Given the description of an element on the screen output the (x, y) to click on. 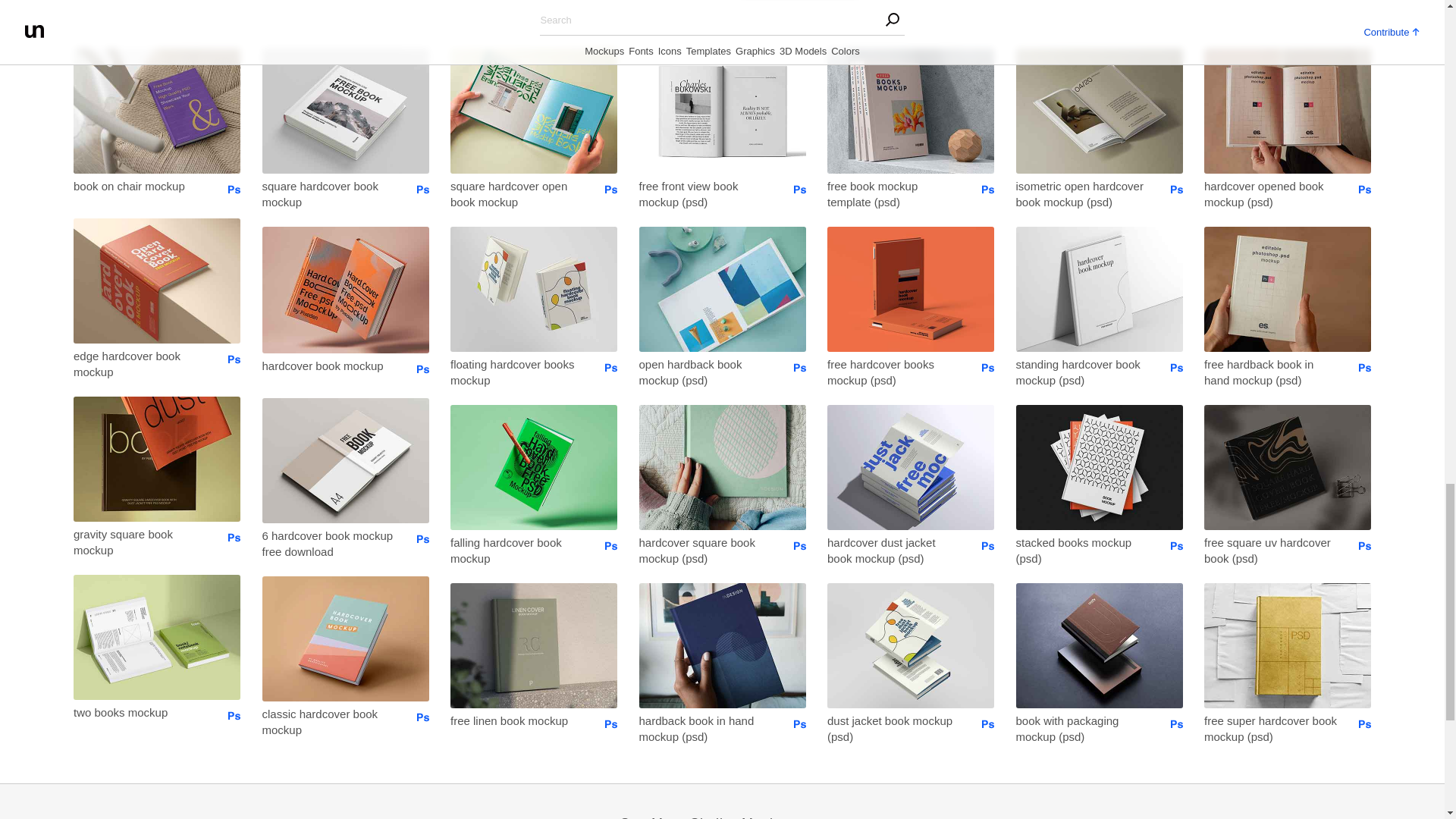
6 hardcover book mockup free download (329, 542)
gravity square book mockup (140, 541)
hardcover book mockup (329, 364)
square hardcover book mockup (329, 193)
square hardcover open book mockup (516, 193)
book on chair mockup (140, 185)
edge hardcover book mockup (140, 363)
classic hardcover book mockup (329, 721)
falling hardcover book mockup (516, 550)
free linen book mockup (516, 720)
floating hardcover books mockup (516, 371)
two books mockup (140, 711)
